Given the description of an element on the screen output the (x, y) to click on. 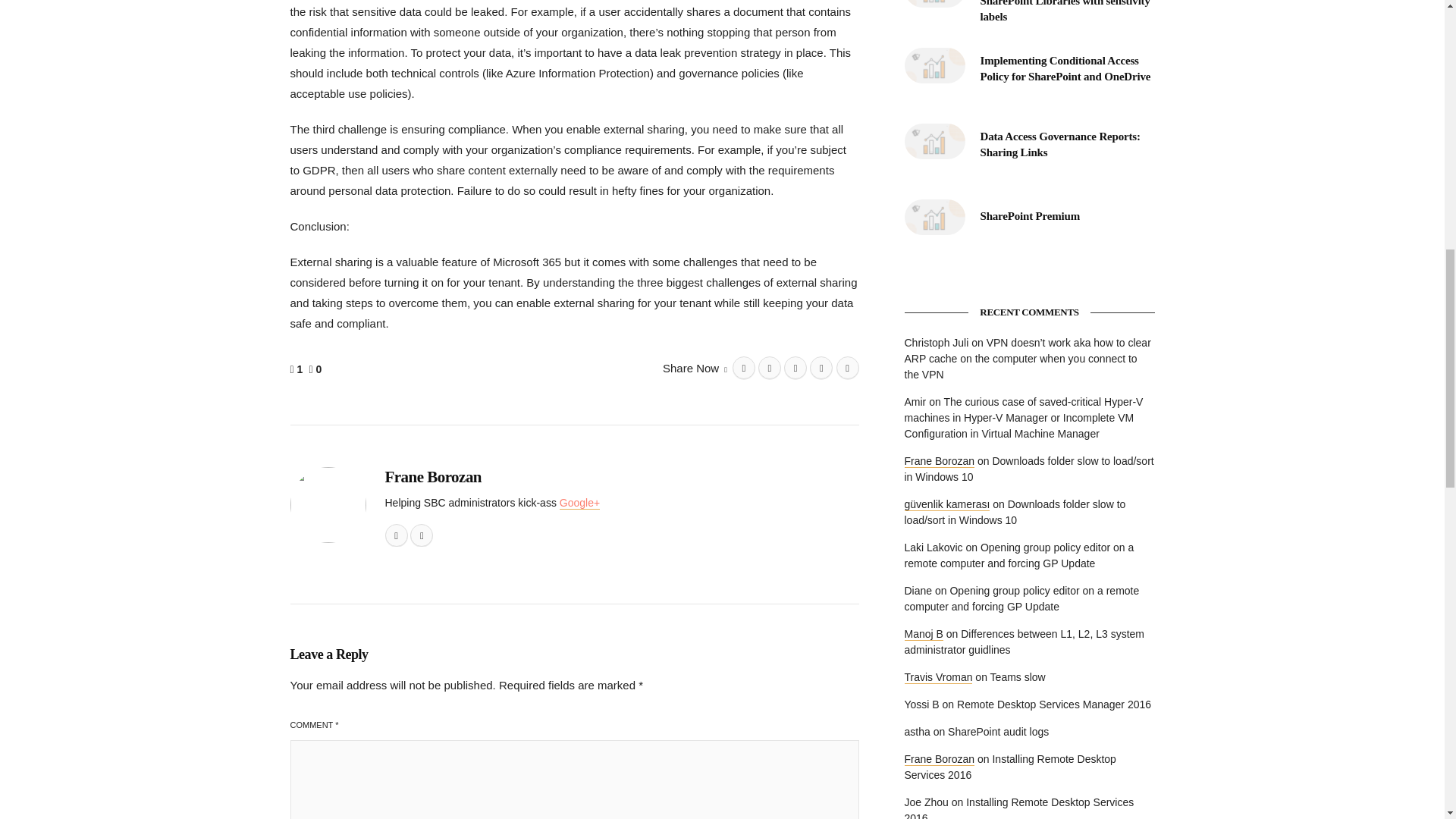
Posts by Frane Borozan (433, 476)
Like (297, 369)
0 (316, 369)
 1 (297, 369)
Frane Borozan (433, 476)
